Given the description of an element on the screen output the (x, y) to click on. 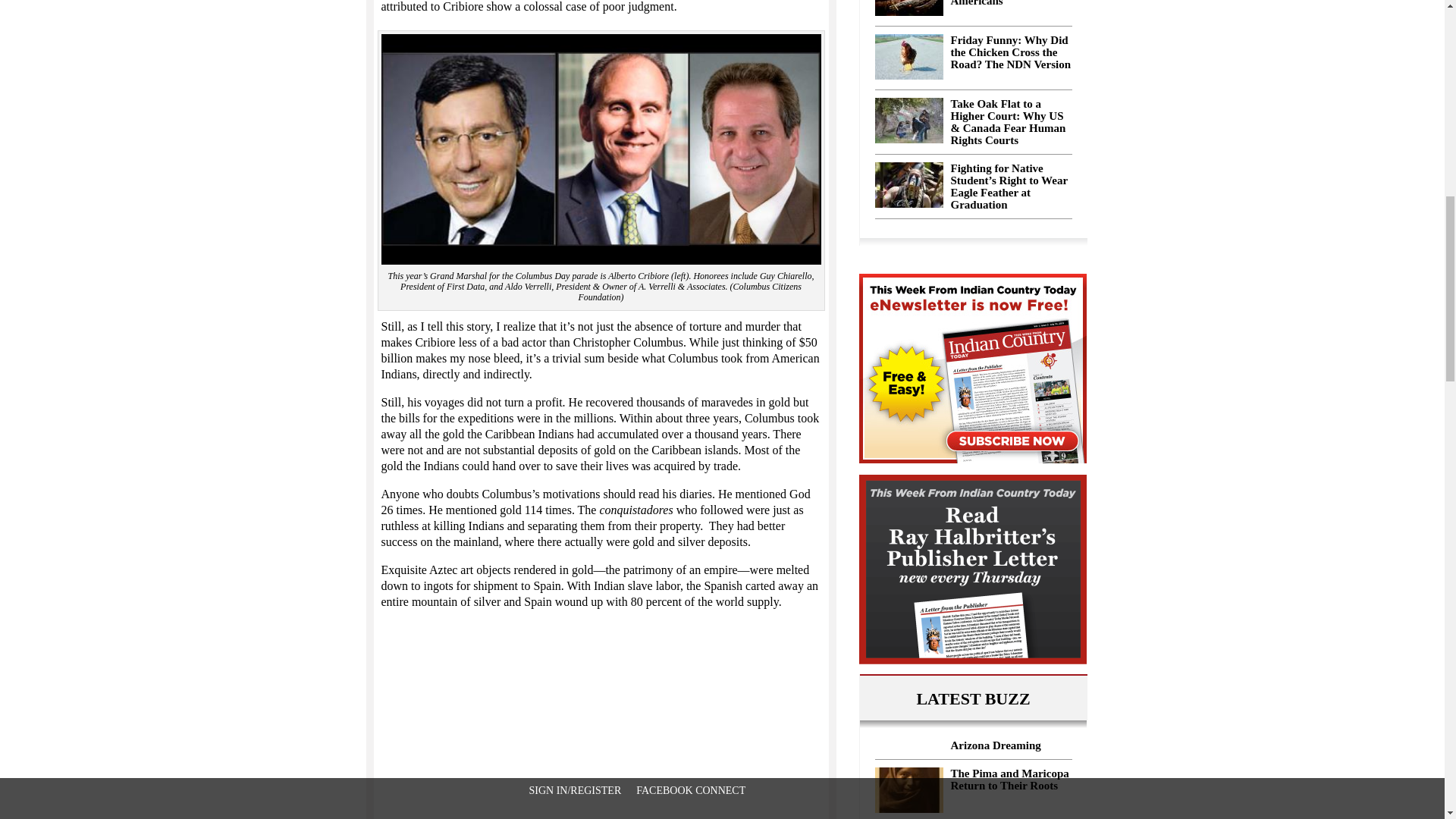
2015 Grand Marshal Honorees (600, 149)
Christian Titman Clovis High School California (909, 185)
